Given the description of an element on the screen output the (x, y) to click on. 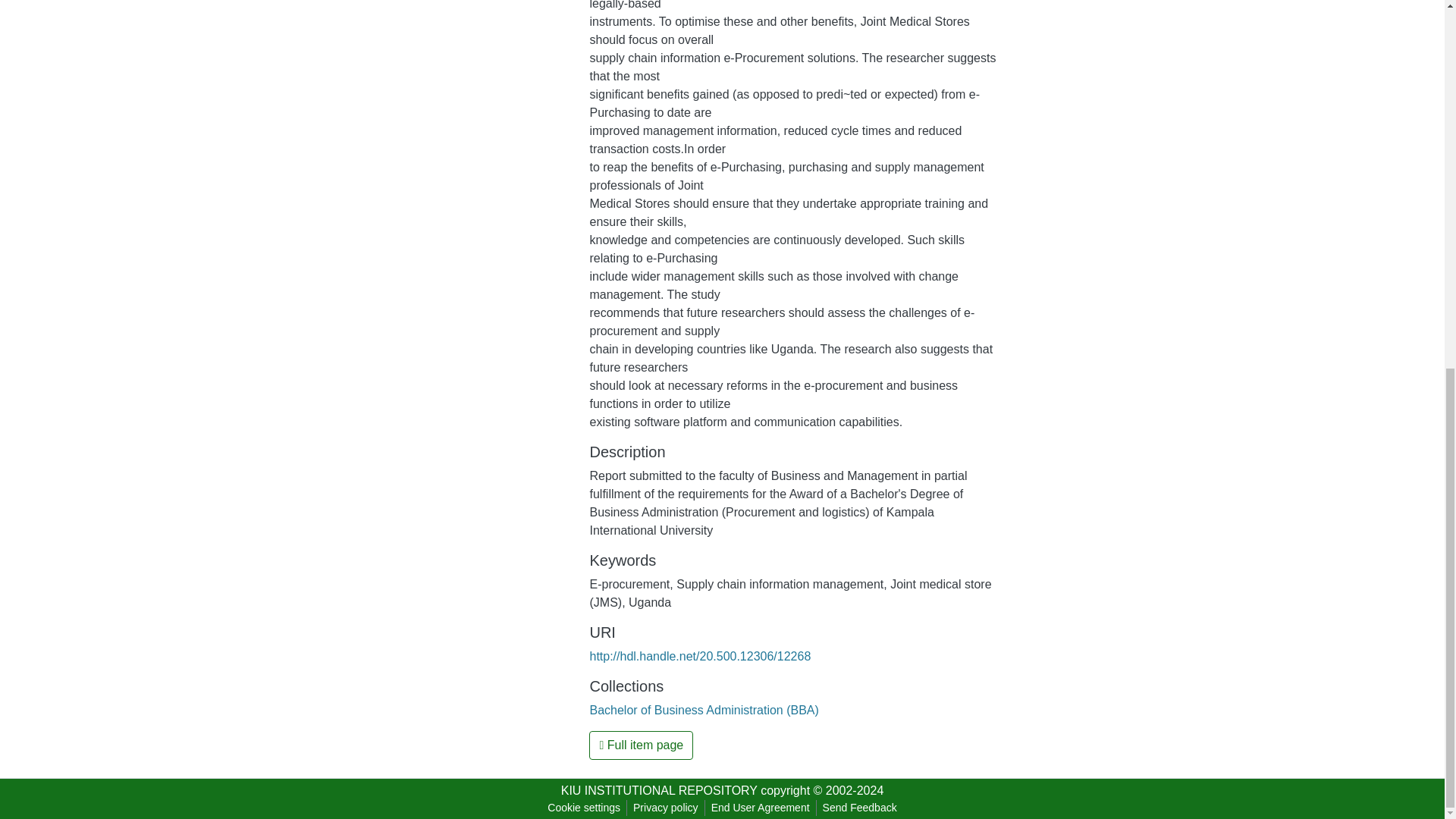
Full item page (641, 745)
KIU INSTITUTIONAL REPOSITORY (658, 789)
End User Agreement (759, 807)
Cookie settings (583, 807)
Send Feedback (859, 807)
Privacy policy (665, 807)
